Given the description of an element on the screen output the (x, y) to click on. 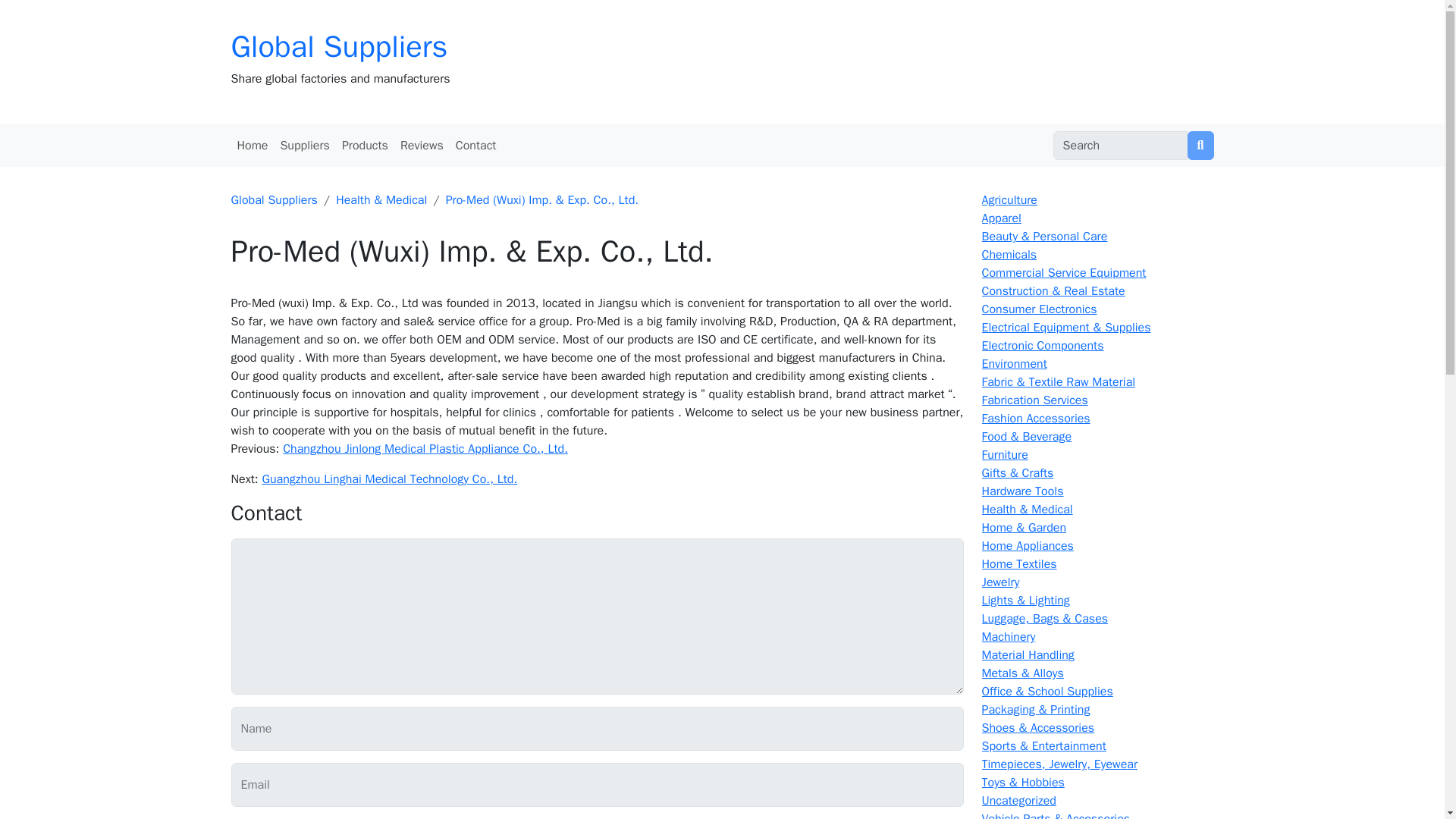
Changzhou Jinlong Medical Plastic Appliance Co., Ltd. (424, 448)
Consumer Electronics (1038, 309)
Search (1201, 145)
Contact (475, 145)
Global Suppliers (338, 46)
Reviews (421, 145)
Suppliers (303, 145)
Chemicals (1008, 254)
Commercial Service Equipment (1063, 272)
Global Suppliers (273, 200)
Products (365, 145)
Apparel (1000, 218)
Guangzhou Linghai Medical Technology Co., Ltd. (389, 478)
Home (251, 145)
Electronic Components (1042, 345)
